Given the description of an element on the screen output the (x, y) to click on. 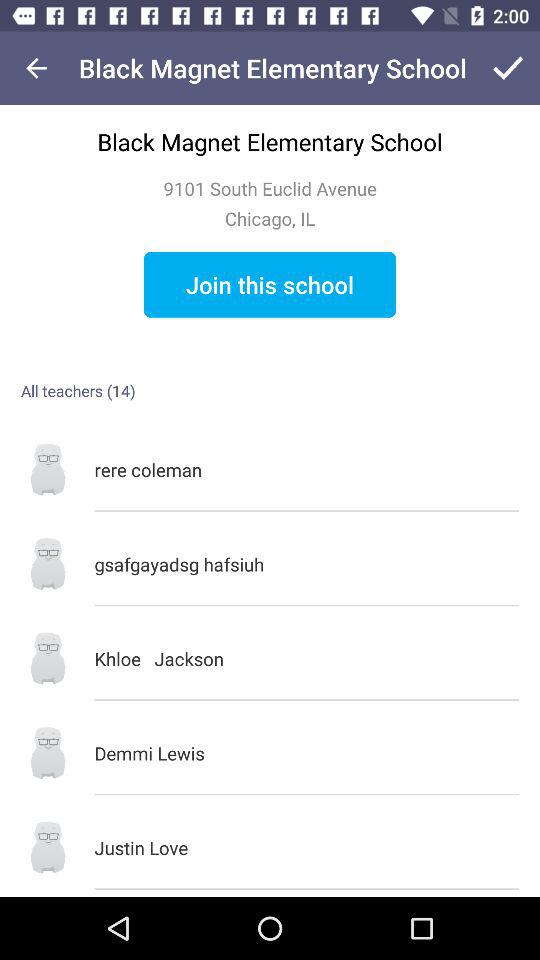
turn on icon at the top left corner (36, 68)
